Given the description of an element on the screen output the (x, y) to click on. 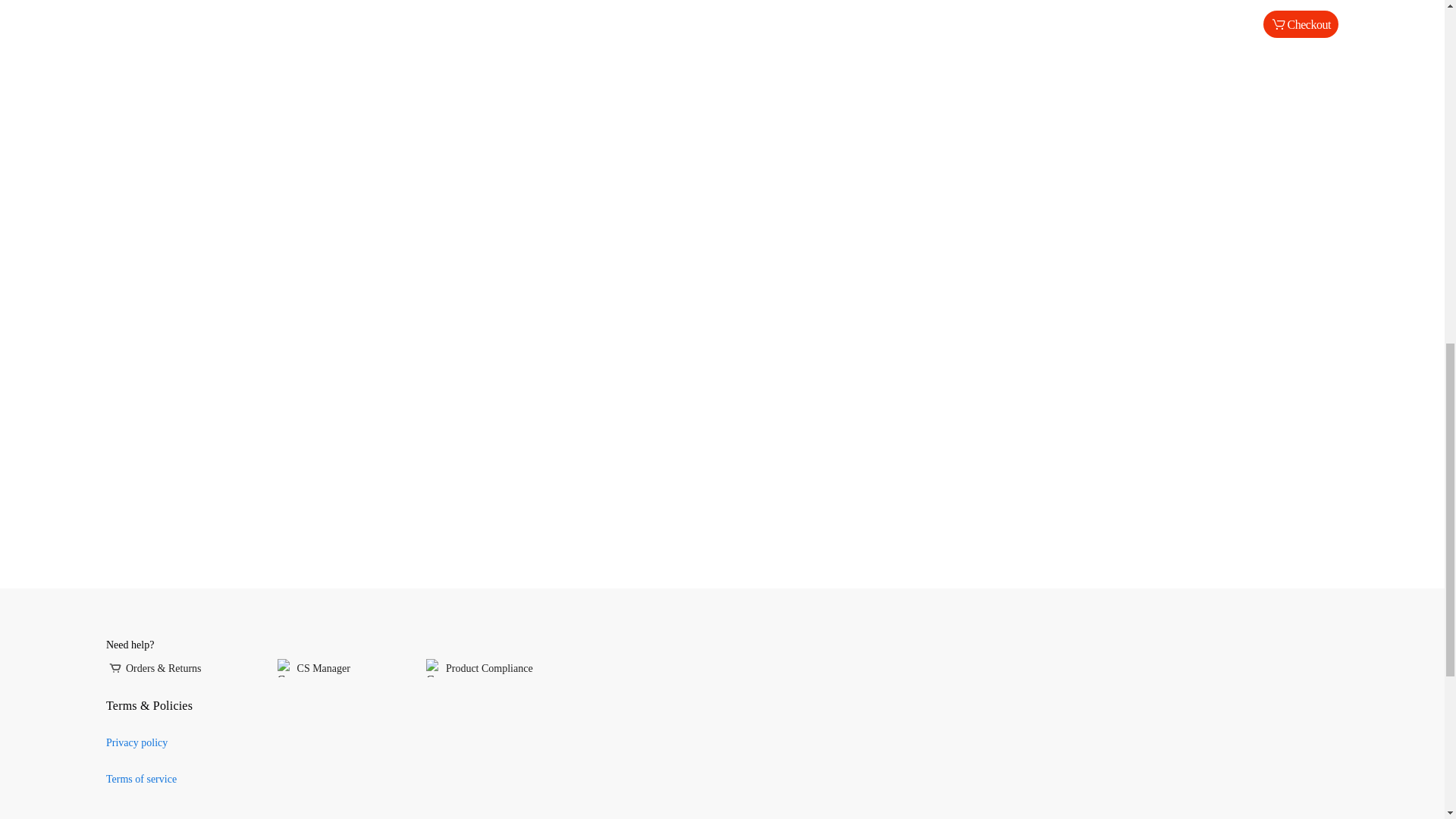
Privacy policy (136, 742)
Terms of service (141, 778)
